Given the description of an element on the screen output the (x, y) to click on. 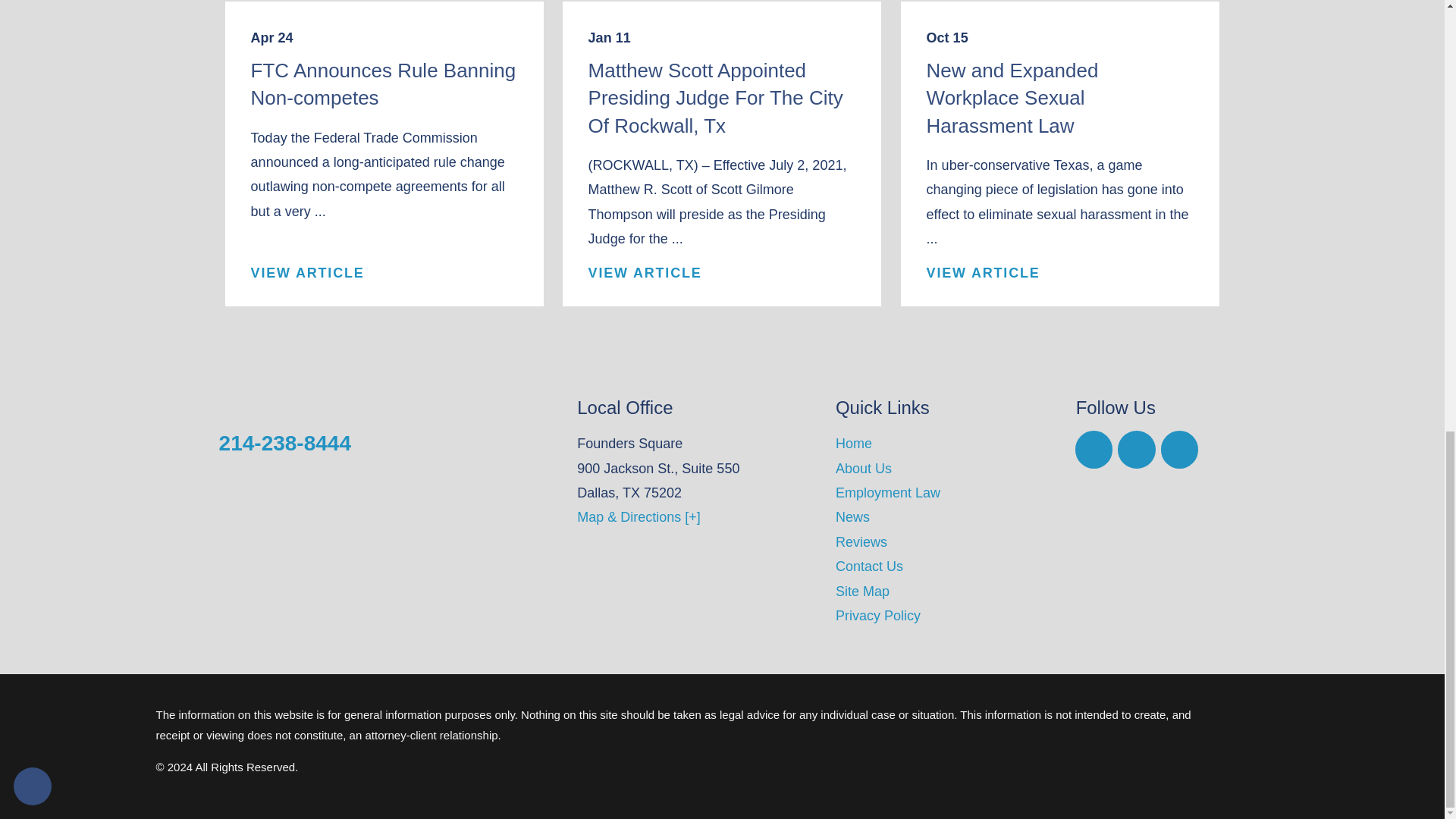
Facebook (1094, 449)
LinkedIn (1137, 449)
Twitter (1179, 449)
